Given the description of an element on the screen output the (x, y) to click on. 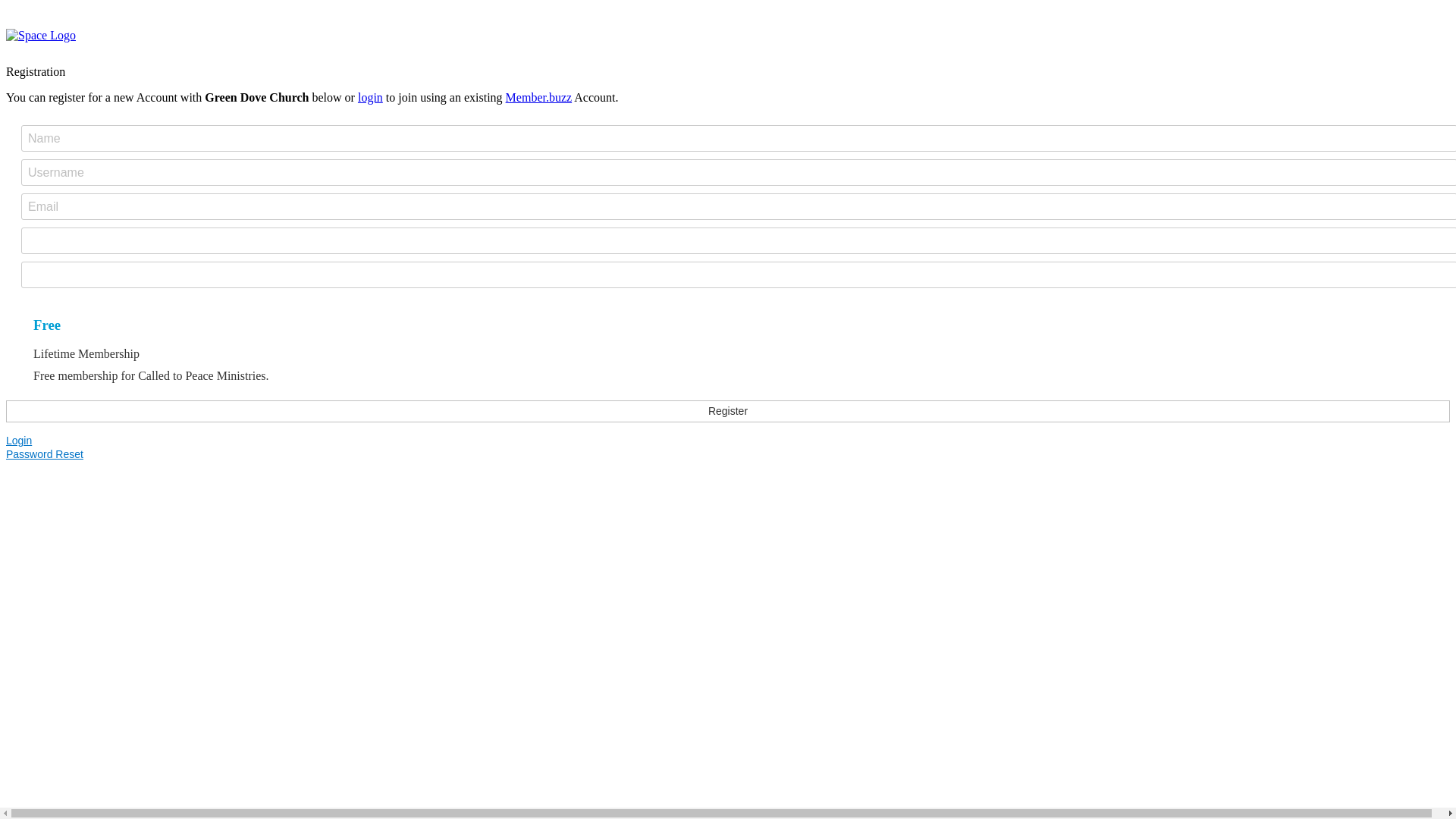
Member.buzz Element type: text (538, 97)
Login Element type: text (727, 440)
login Element type: text (369, 97)
Password Reset Element type: text (727, 454)
